Given the description of an element on the screen output the (x, y) to click on. 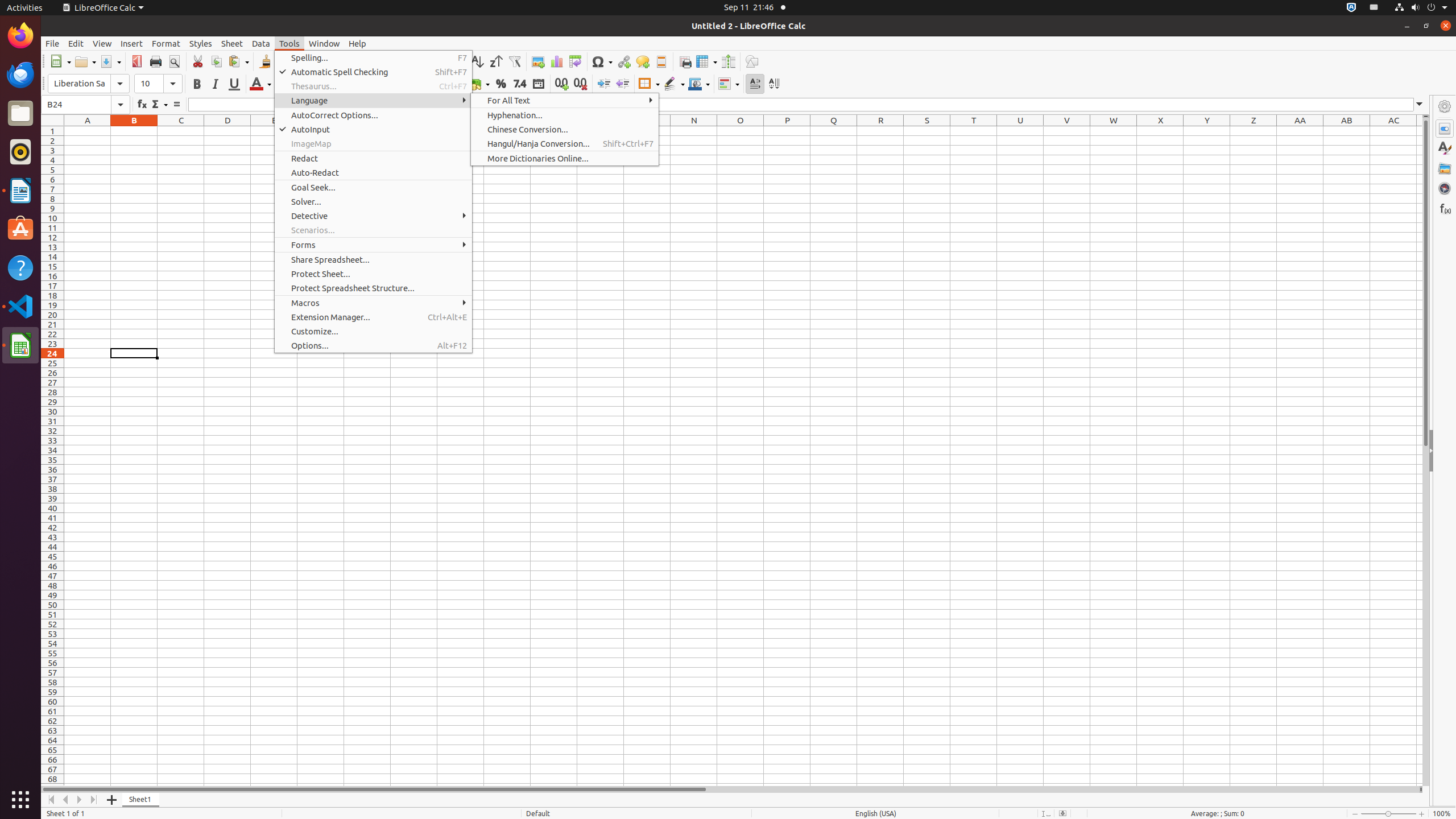
IsaHelpMain.desktop Element type: label (75, 170)
Properties Element type: panel (1444, 450)
Expand Formula Bar Element type: push-button (1419, 104)
Headers and Footers Element type: push-button (660, 61)
O1 Element type: table-cell (740, 130)
